Given the description of an element on the screen output the (x, y) to click on. 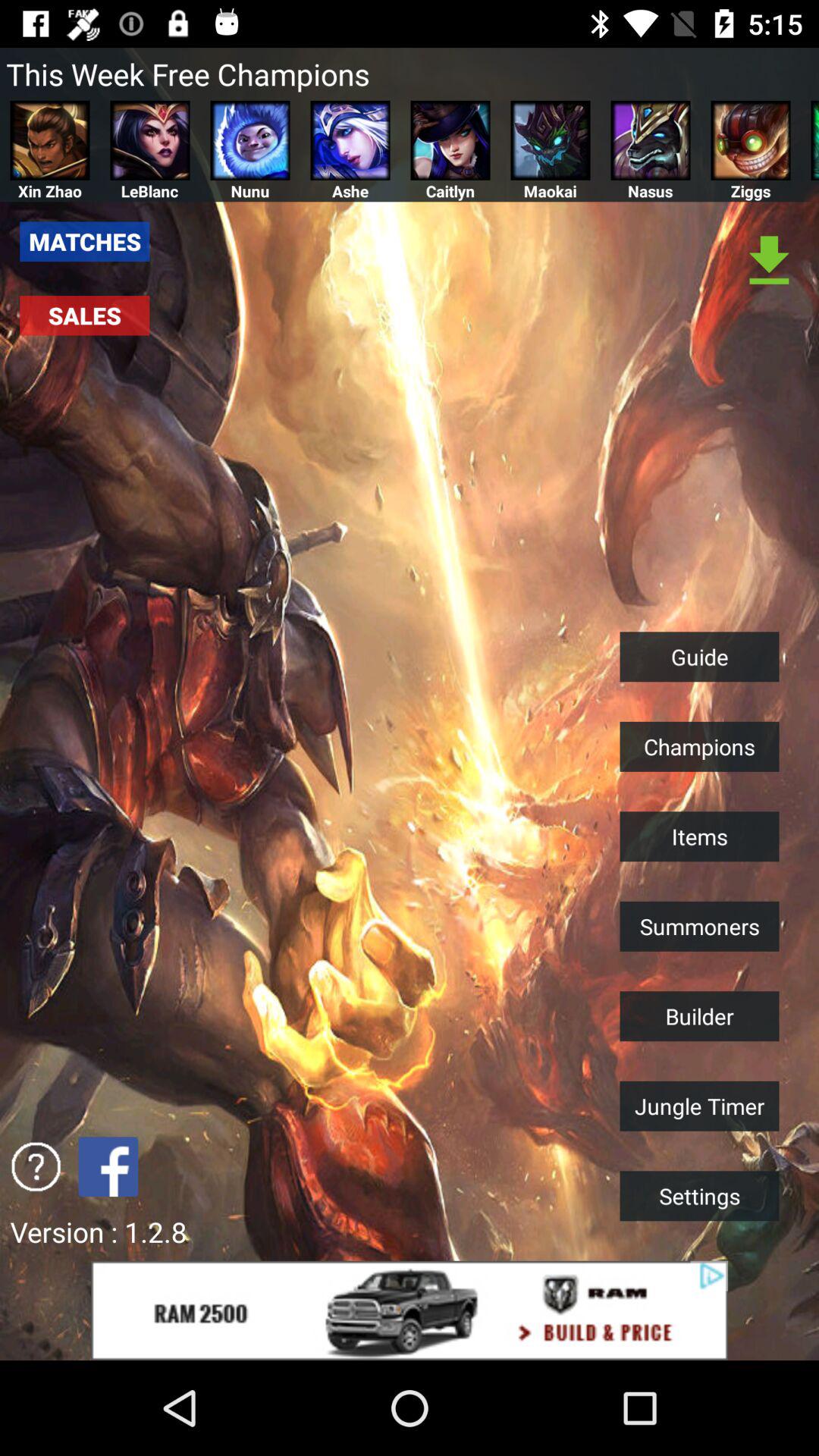
question option (35, 1166)
